Given the description of an element on the screen output the (x, y) to click on. 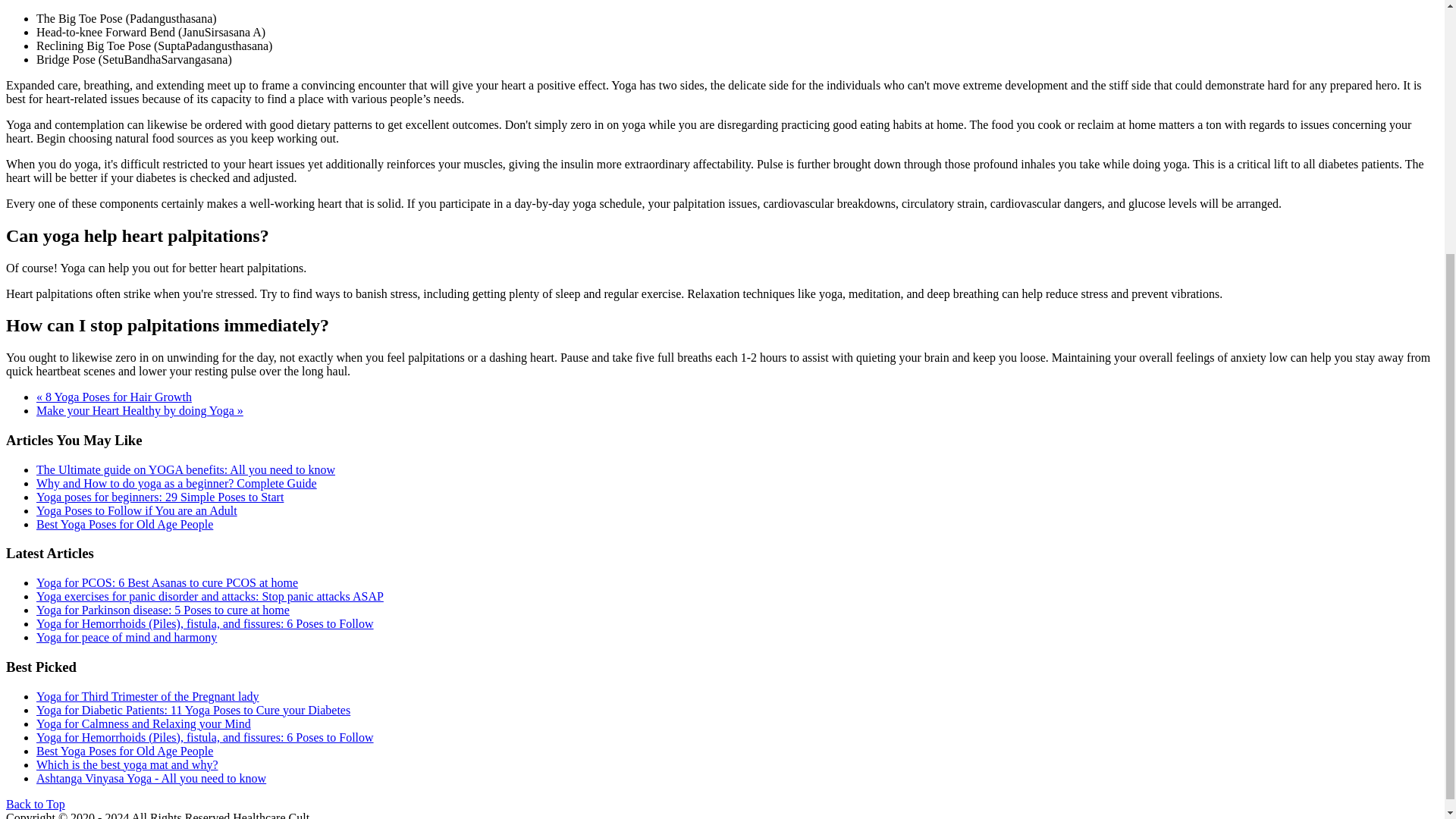
Best Yoga Poses for Old Age People (124, 523)
Why and How to do yoga as a beginner? Complete Guide (176, 482)
Yoga for Parkinson disease: 5 Poses to cure at home (162, 609)
Yoga poses for beginners: 29 Simple Poses to Start (159, 496)
Yoga Poses to Follow if You are an Adult (136, 510)
Yoga for peace of mind and harmony (126, 636)
8 Yoga Poses for Hair Growth  (114, 396)
The Ultimate guide on YOGA benefits: All you need to know (185, 469)
Which is the best yoga mat and why? (127, 764)
